Given the description of an element on the screen output the (x, y) to click on. 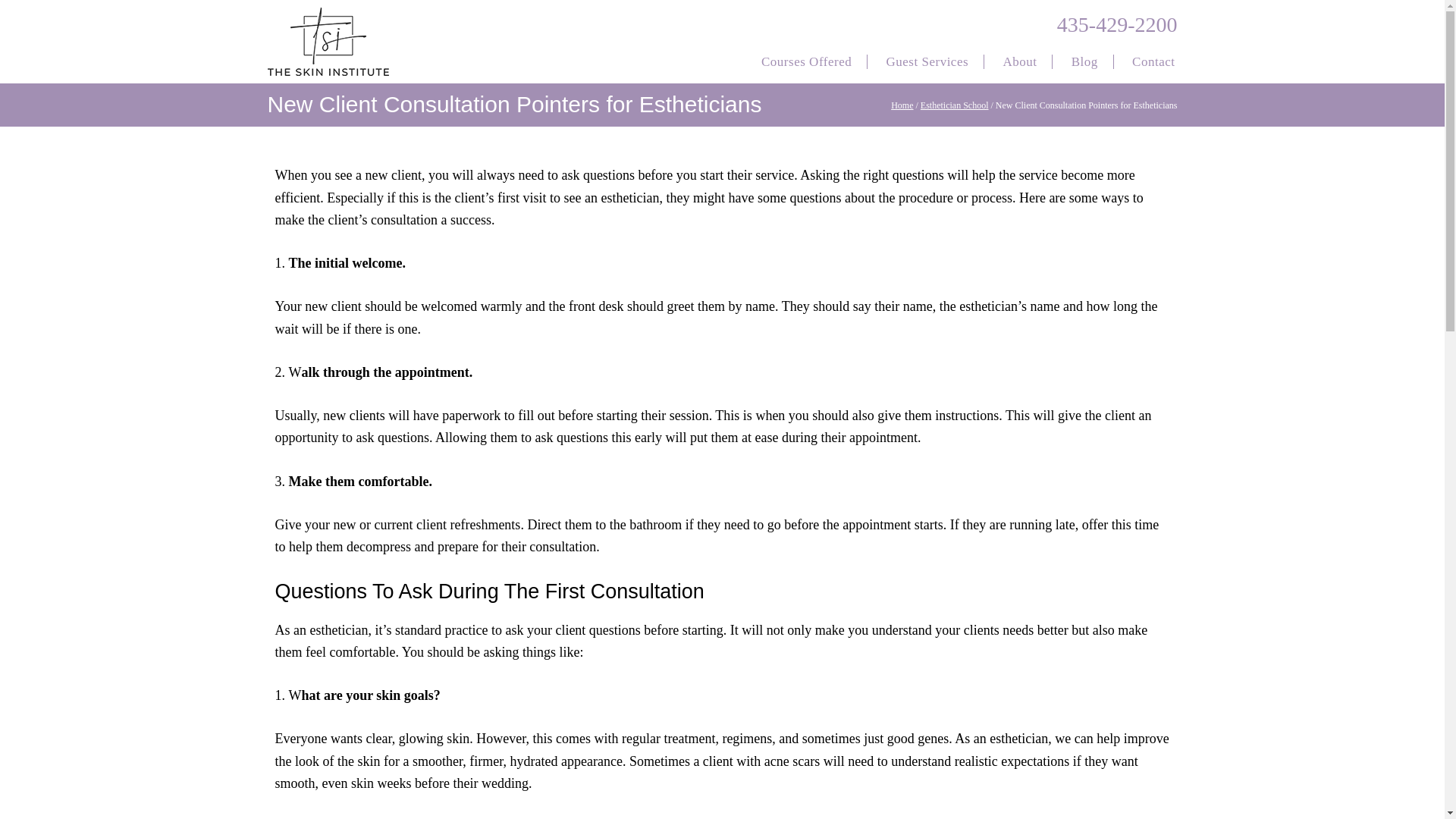
Courses Offered (806, 62)
435-429-2200 (1117, 24)
About (1019, 62)
Home (901, 104)
Esthetician School (954, 104)
Blog (1085, 62)
Contact (1152, 62)
Guest Services (927, 62)
